Given the description of an element on the screen output the (x, y) to click on. 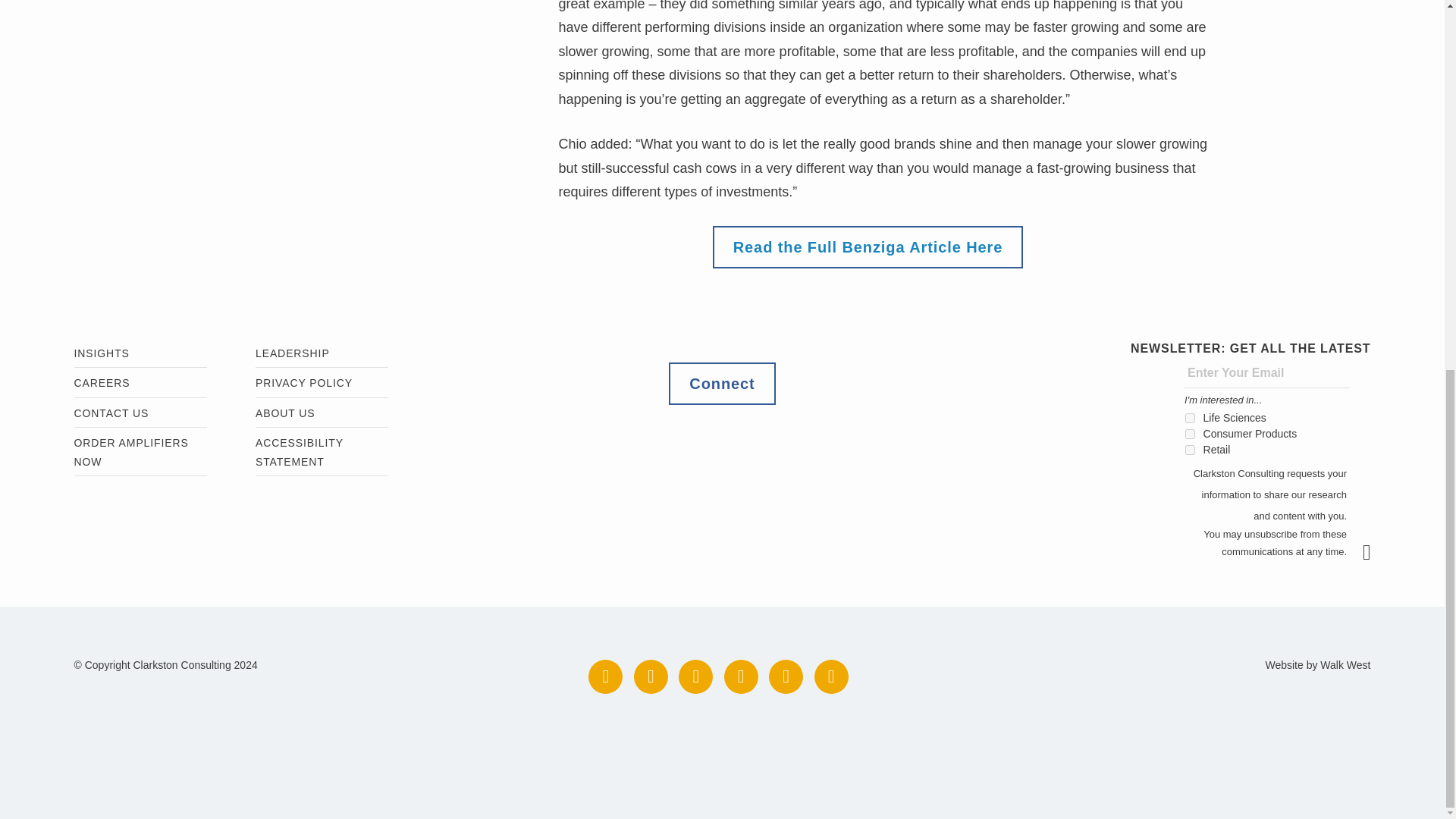
Submit (1374, 551)
Life Sciences (1190, 418)
Retail Industry (1190, 450)
Consumer Products and Retail (1190, 433)
